Given the description of an element on the screen output the (x, y) to click on. 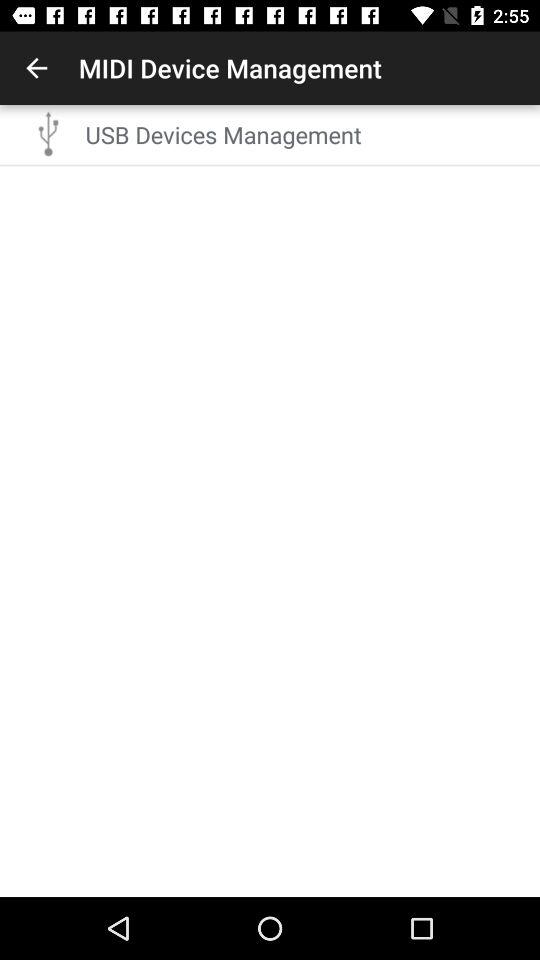
swipe until the usb devices management item (305, 134)
